Given the description of an element on the screen output the (x, y) to click on. 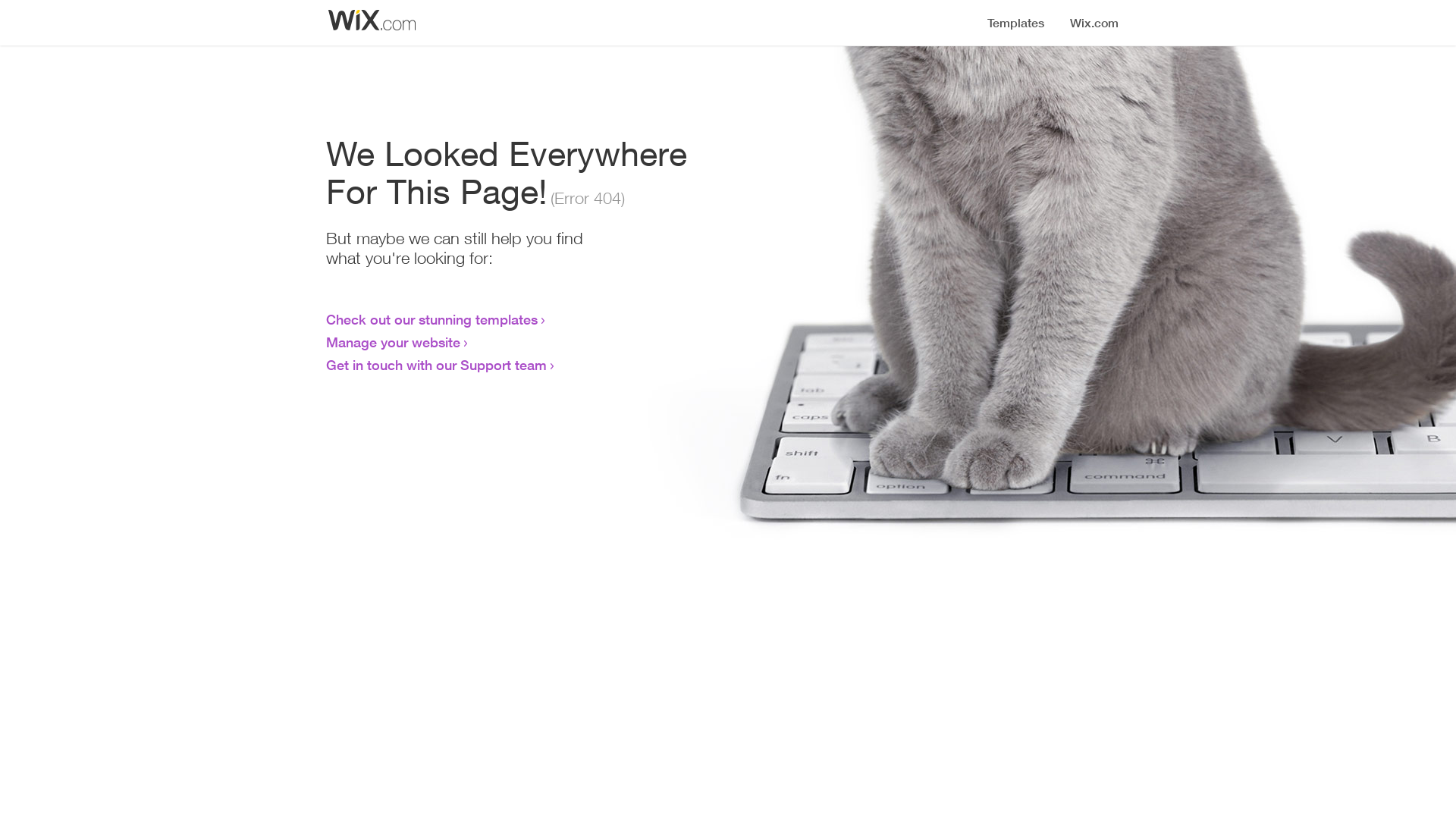
Check out our stunning templates Element type: text (431, 318)
Get in touch with our Support team Element type: text (436, 364)
Manage your website Element type: text (393, 341)
